Given the description of an element on the screen output the (x, y) to click on. 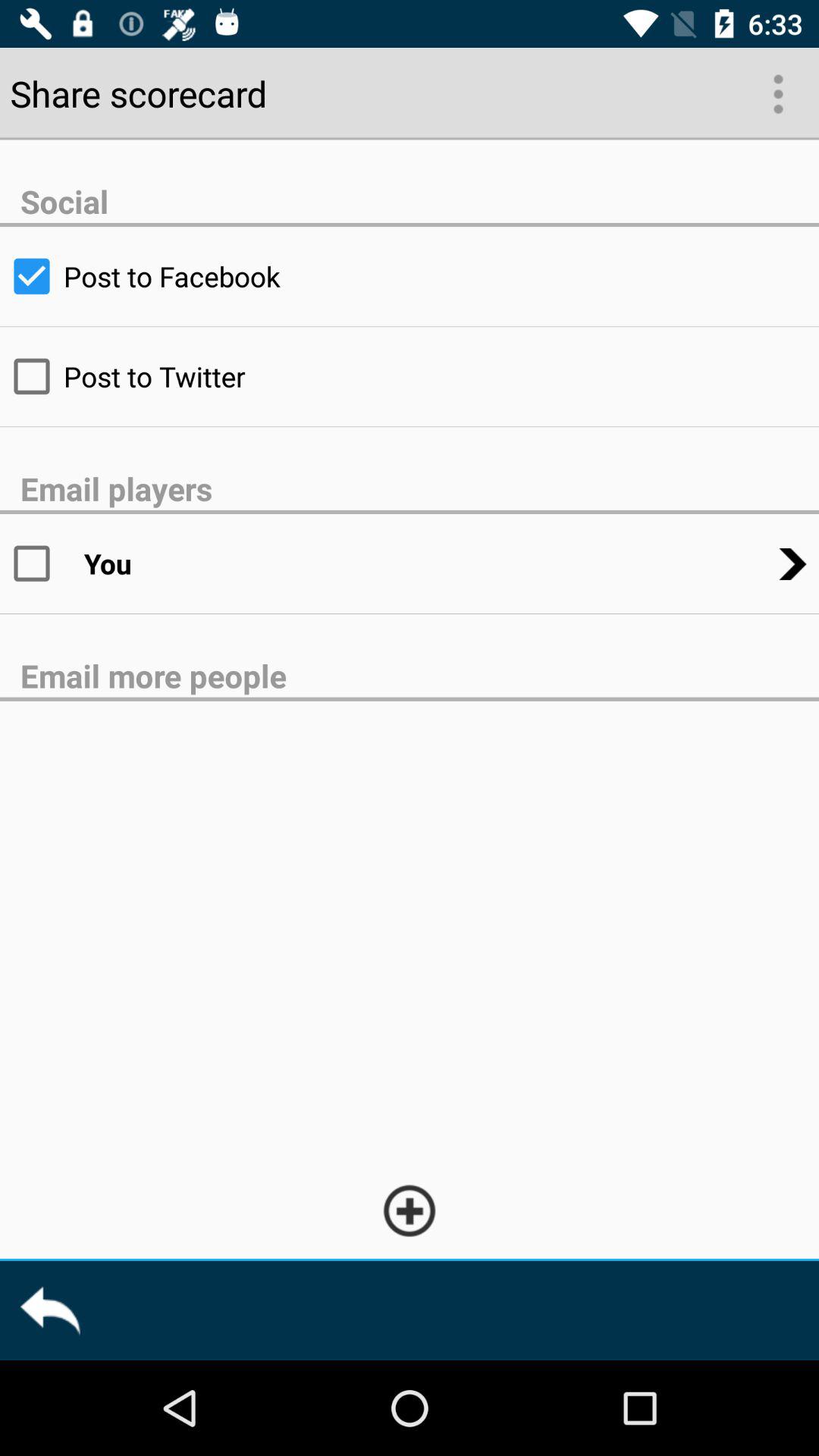
email option (42, 563)
